Given the description of an element on the screen output the (x, y) to click on. 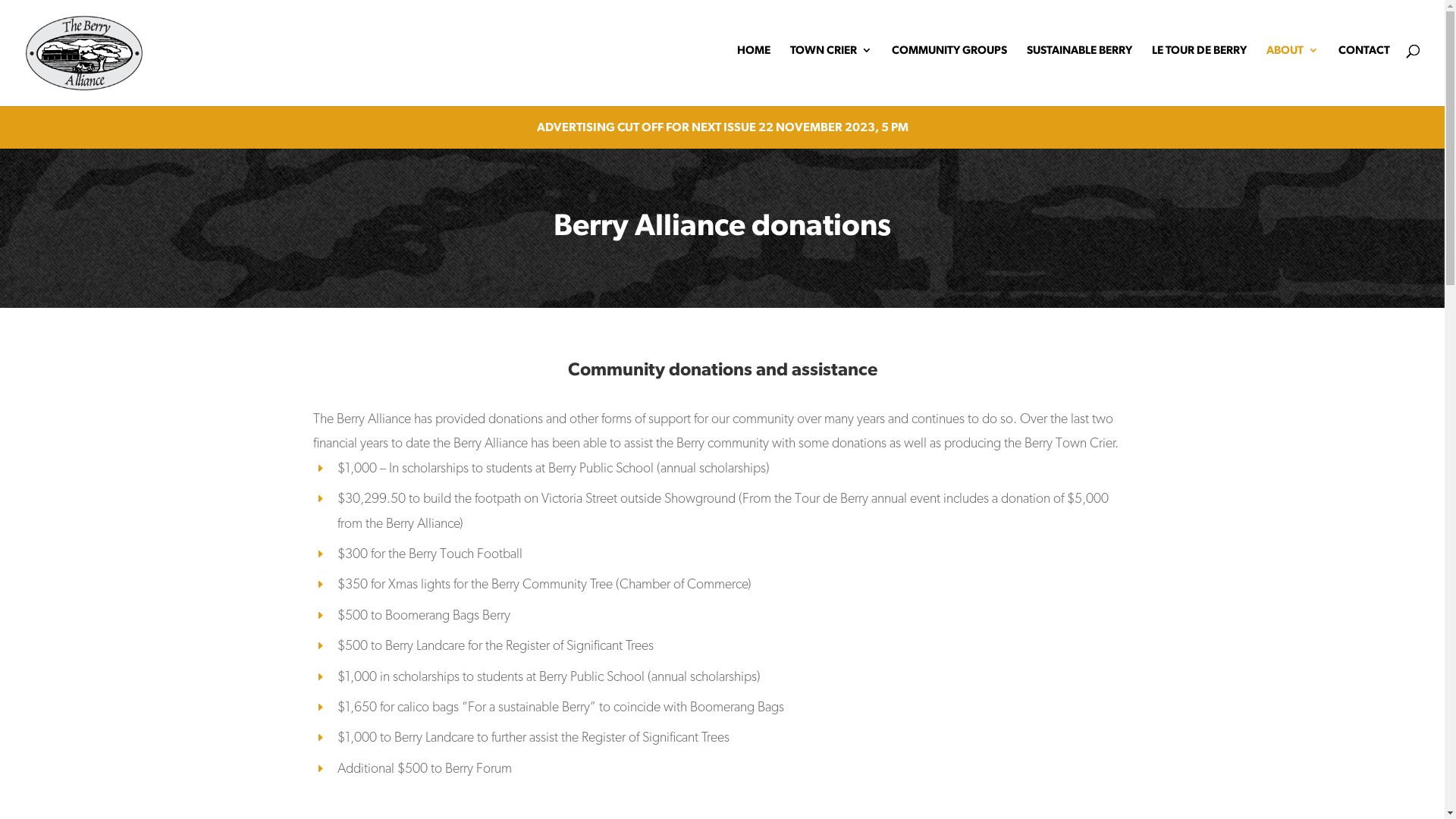
TOWN CRIER Element type: text (831, 72)
HOME Element type: text (753, 72)
COMMUNITY GROUPS Element type: text (949, 72)
SUSTAINABLE BERRY Element type: text (1079, 72)
CONTACT Element type: text (1364, 72)
ABOUT Element type: text (1292, 72)
LE TOUR DE BERRY Element type: text (1198, 72)
